Given the description of an element on the screen output the (x, y) to click on. 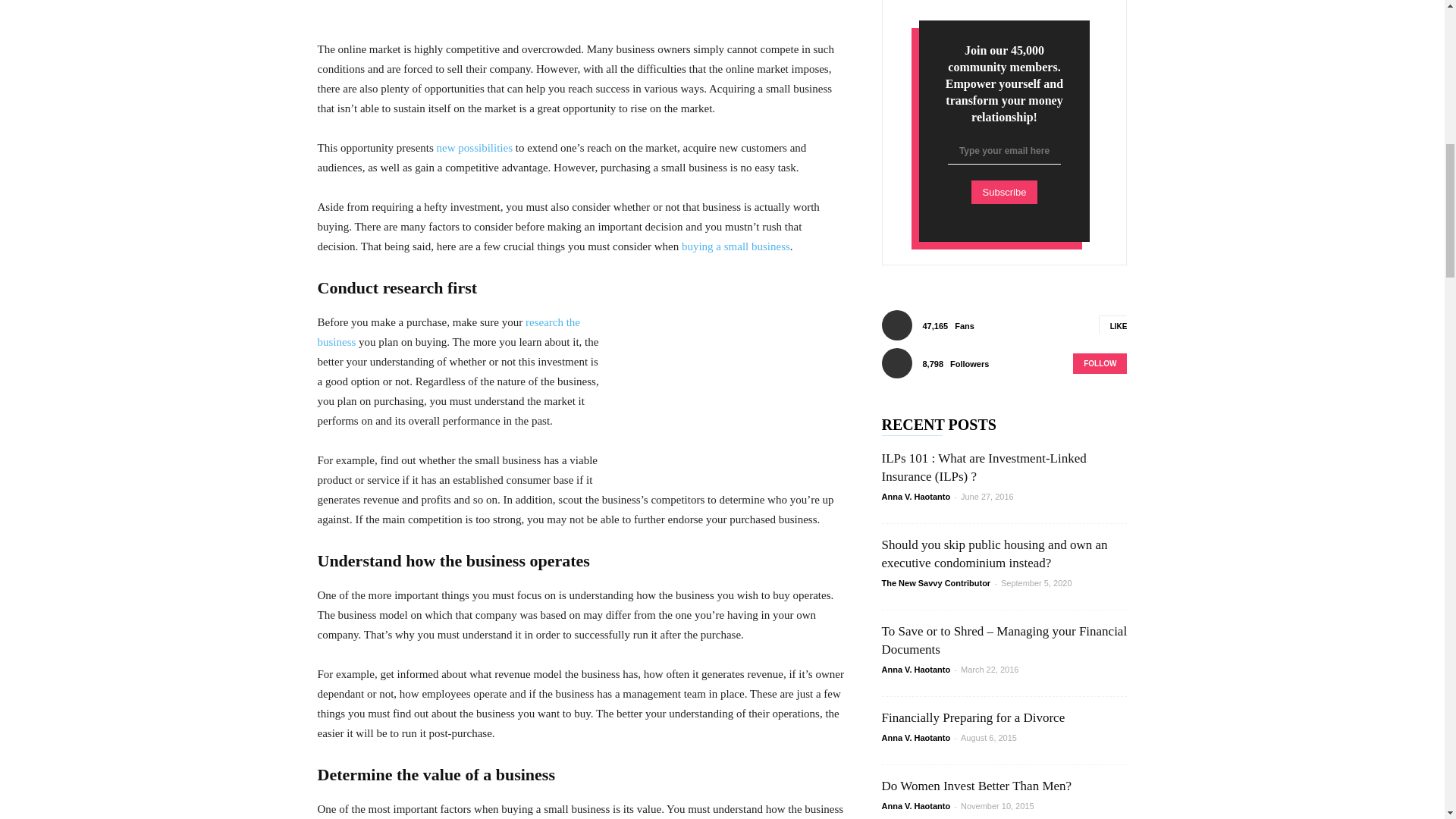
Subscribe (1004, 191)
